Given the description of an element on the screen output the (x, y) to click on. 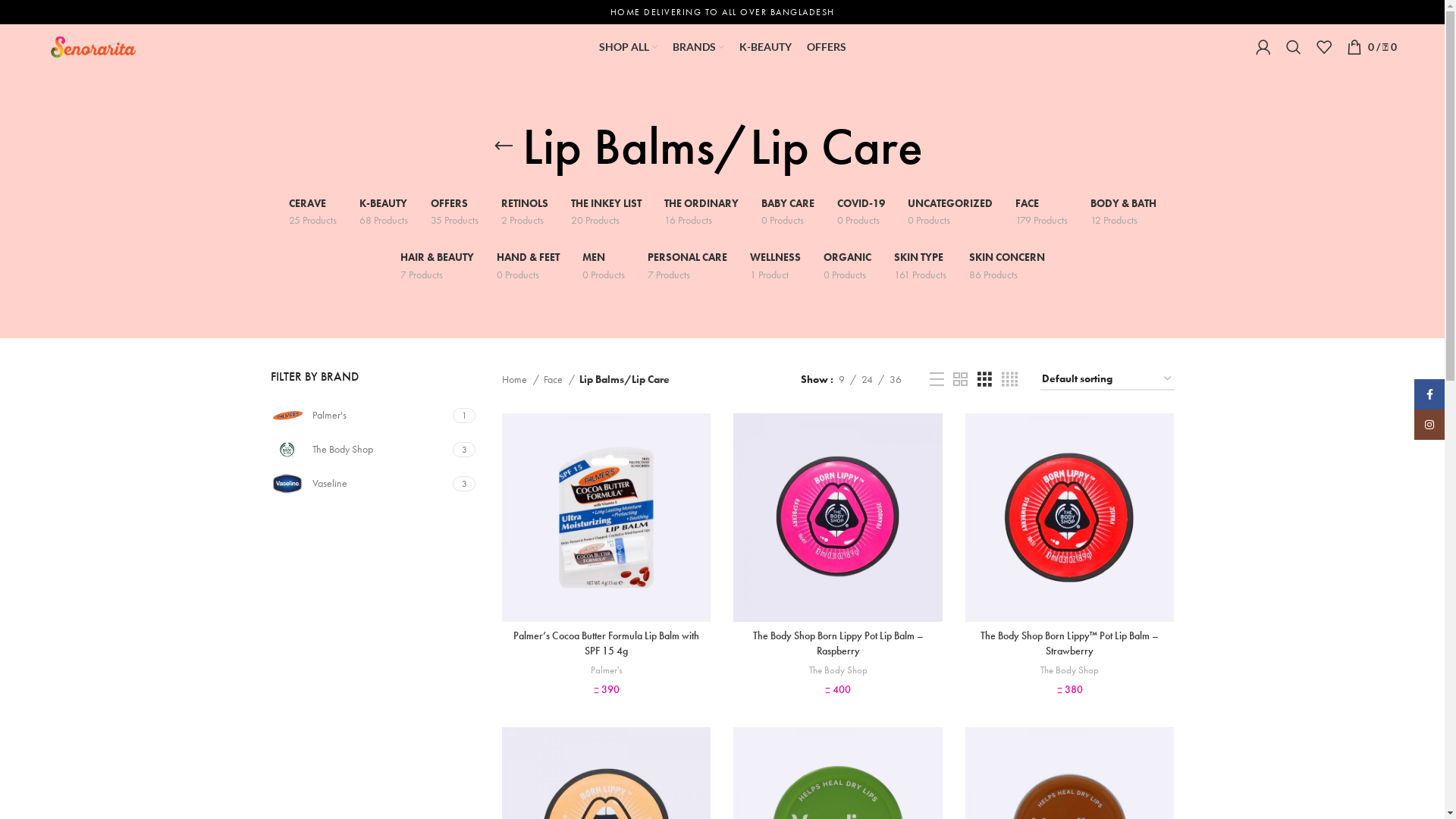
Palmer's Element type: text (358, 415)
FACE
179 Products Element type: text (1040, 211)
OFFERS Element type: text (826, 46)
COVID-19
0 Products Element type: text (860, 211)
Palmer's Element type: text (606, 670)
Home Element type: text (520, 378)
CERAVE
25 Products Element type: text (311, 211)
The Body Shop Element type: text (358, 449)
HAND & FEET
0 Products Element type: text (526, 265)
My account Element type: hover (1263, 46)
K-BEAUTY Element type: text (764, 46)
THE ORDINARY
16 Products Element type: text (701, 211)
24 Element type: text (867, 378)
SKIN TYPE
161 Products Element type: text (919, 265)
MEN
0 Products Element type: text (603, 265)
Search Element type: hover (1293, 46)
RETINOLS
2 Products Element type: text (523, 211)
9 Element type: text (841, 378)
My Wishlist Element type: hover (1323, 46)
PERSONAL CARE
7 Products Element type: text (687, 265)
BODY & BATH
12 Products Element type: text (1123, 211)
BRANDS Element type: text (697, 46)
THE INKEY LIST
20 Products Element type: text (605, 211)
The Body Shop Element type: text (1069, 670)
SKIN CONCERN
86 Products Element type: text (1006, 265)
OFFERS
35 Products Element type: text (454, 211)
The Body Shop Element type: text (838, 670)
Vaseline Element type: text (358, 483)
WELLNESS
1 Product Element type: text (774, 265)
K-BEAUTY
68 Products Element type: text (383, 211)
Face Element type: text (558, 378)
36 Element type: text (895, 378)
SHOP ALL Element type: text (628, 46)
HAIR & BEAUTY
7 Products Element type: text (436, 265)
UNCATEGORIZED
0 Products Element type: text (948, 211)
ORGANIC
0 Products Element type: text (847, 265)
BABY CARE
0 Products Element type: text (787, 211)
